Given the description of an element on the screen output the (x, y) to click on. 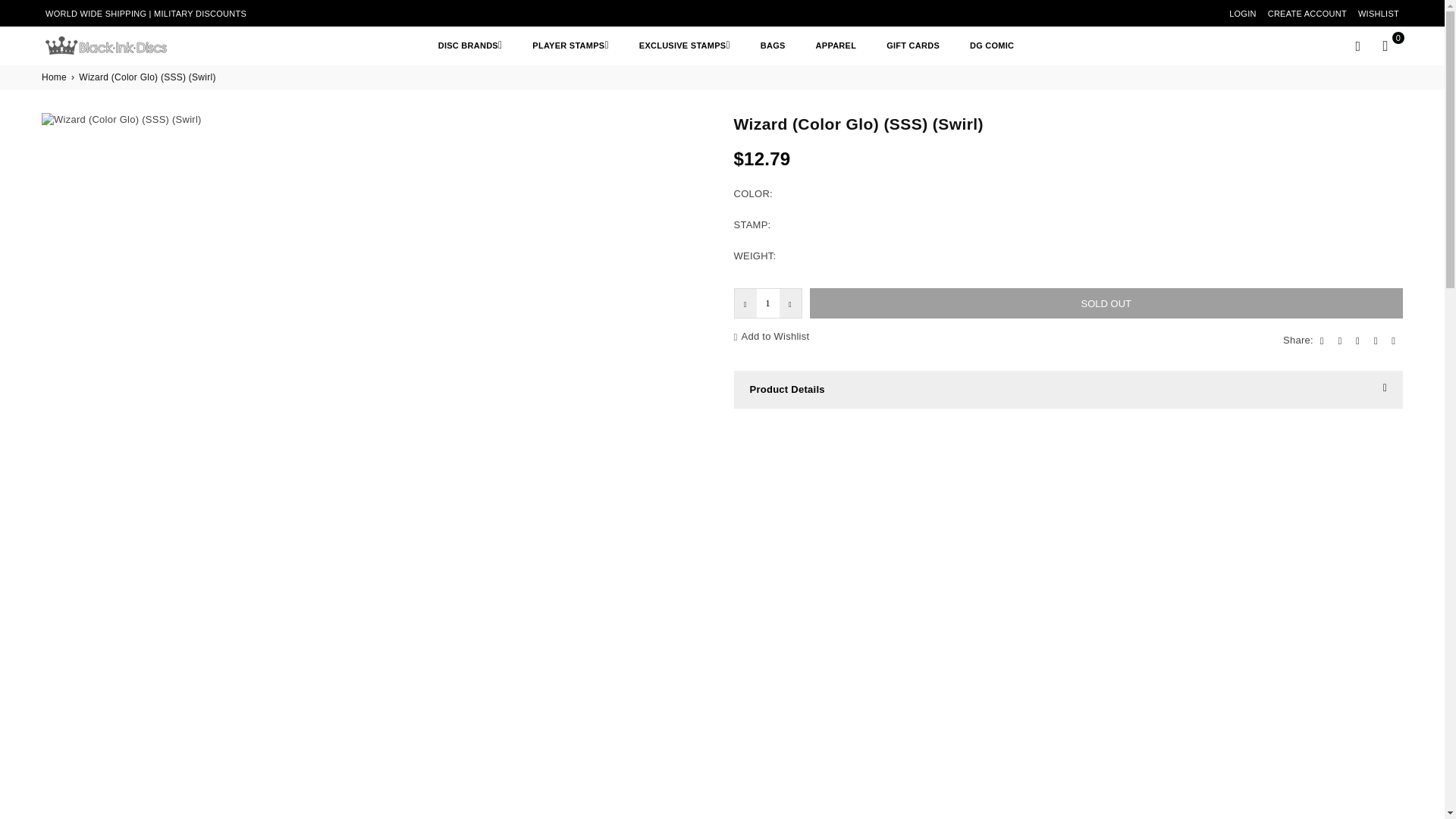
MILITARY DISCOUNTS (200, 13)
Share on Facebook (1323, 340)
Share on Linked In (1377, 340)
Quantity (767, 303)
DISC BRANDS (469, 45)
WISHLIST (1378, 13)
1 (767, 303)
Tweet on Twitter (1341, 340)
Share by Email (1395, 340)
Back to the home page (55, 77)
LOGIN (1242, 13)
Search (1357, 45)
Cart (1385, 45)
BLACK INK DISCS (117, 45)
Pin on Pinterest (1358, 340)
